Given the description of an element on the screen output the (x, y) to click on. 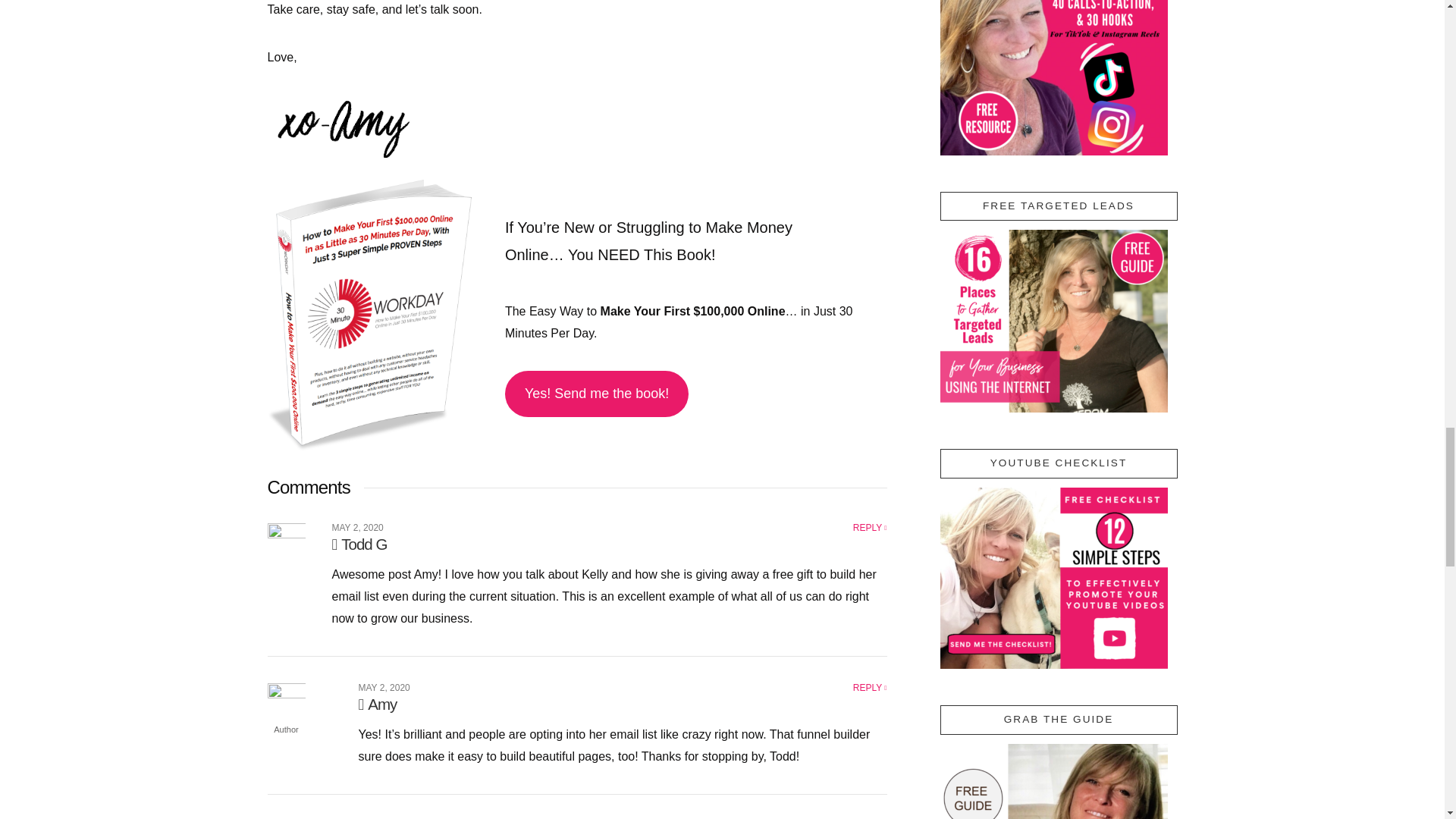
GRAB THE GUIDE (1053, 781)
REPLY (869, 687)
Yes! Send me the book! (596, 393)
FREE CONTENT GUIDE (1053, 77)
MAY 2, 2020 (357, 527)
FREE TARGETED LEADS (1053, 321)
MAY 2, 2020 (383, 687)
Todd G (359, 543)
REPLY (869, 527)
